Given the description of an element on the screen output the (x, y) to click on. 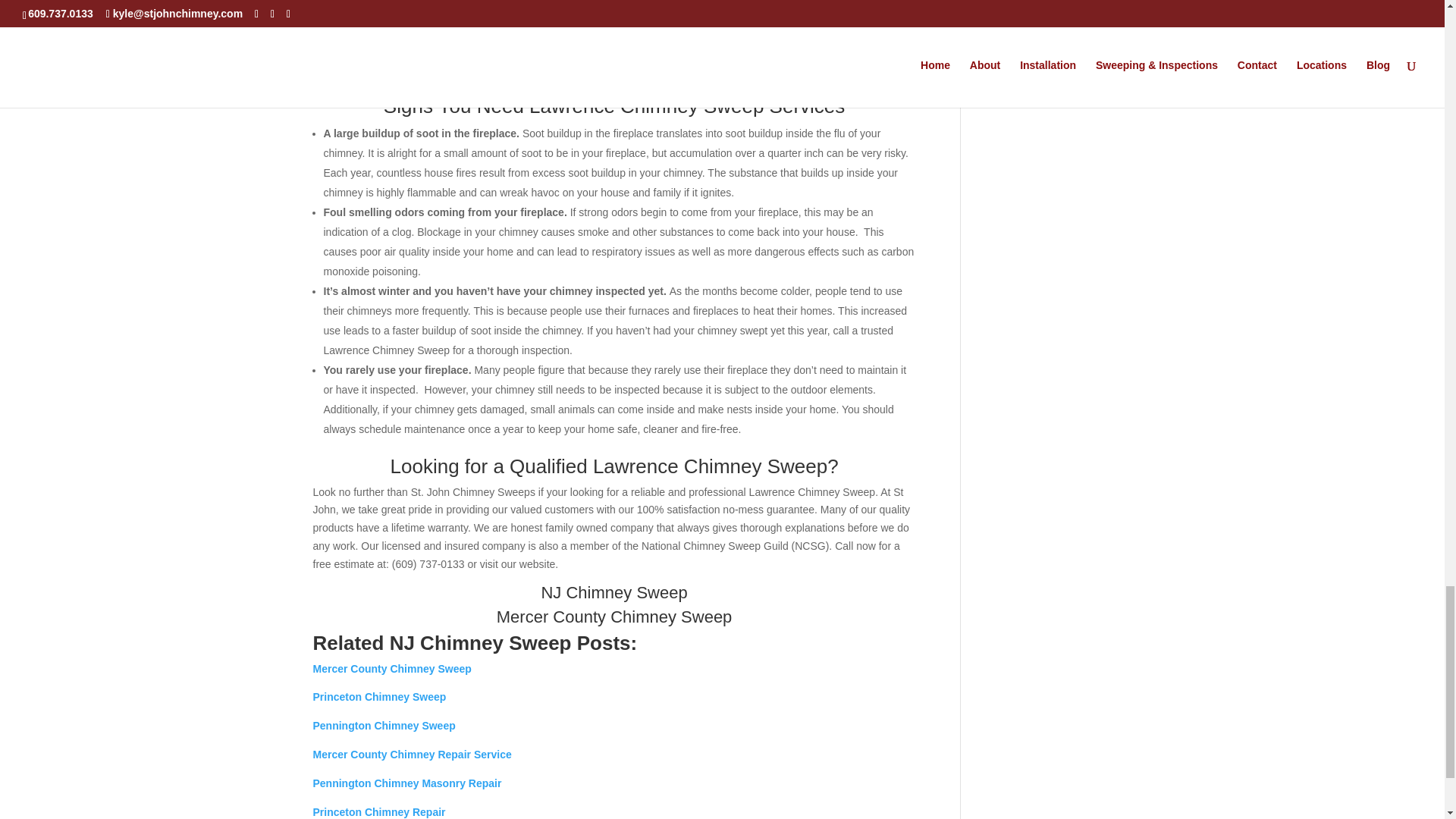
NJ Chimney Sweep (613, 592)
Princeton Chimney Repair (379, 811)
Princeton Chimney Sweep (379, 696)
Mercer County Chimney Repair Service (412, 754)
Mercer County Chimney Sweep (391, 668)
Pennington Chimney Sweep (383, 725)
Mercer County Chimney Sweep (614, 616)
Pennington Chimney Masonry Repair (406, 783)
